Given the description of an element on the screen output the (x, y) to click on. 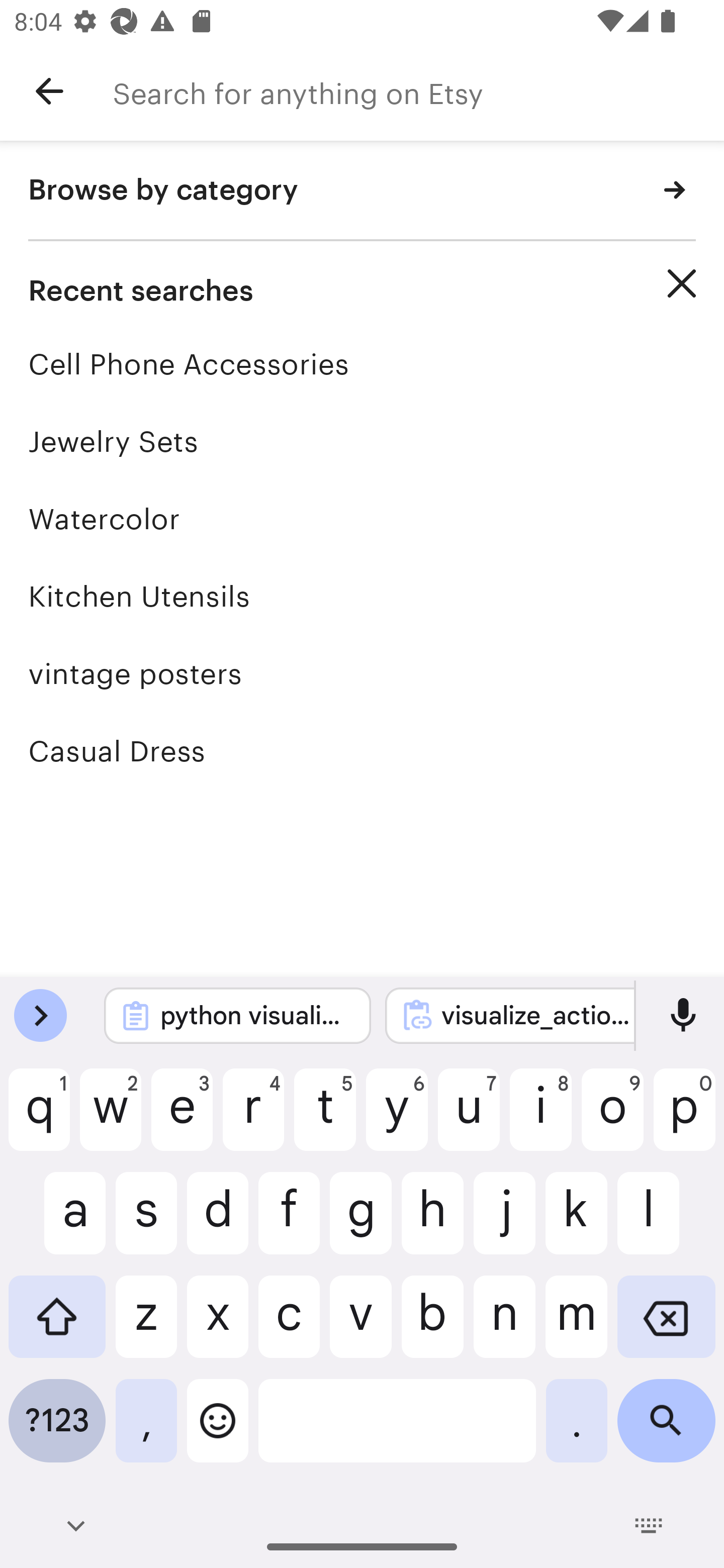
Navigate up (49, 91)
Search for anything on Etsy (418, 91)
Browse by category (362, 191)
Clear (681, 283)
Cell Phone Accessories (362, 364)
Jewelry Sets (362, 440)
Watercolor (362, 518)
Kitchen Utensils (362, 596)
vintage posters (362, 673)
Casual Dress (362, 750)
